Given the description of an element on the screen output the (x, y) to click on. 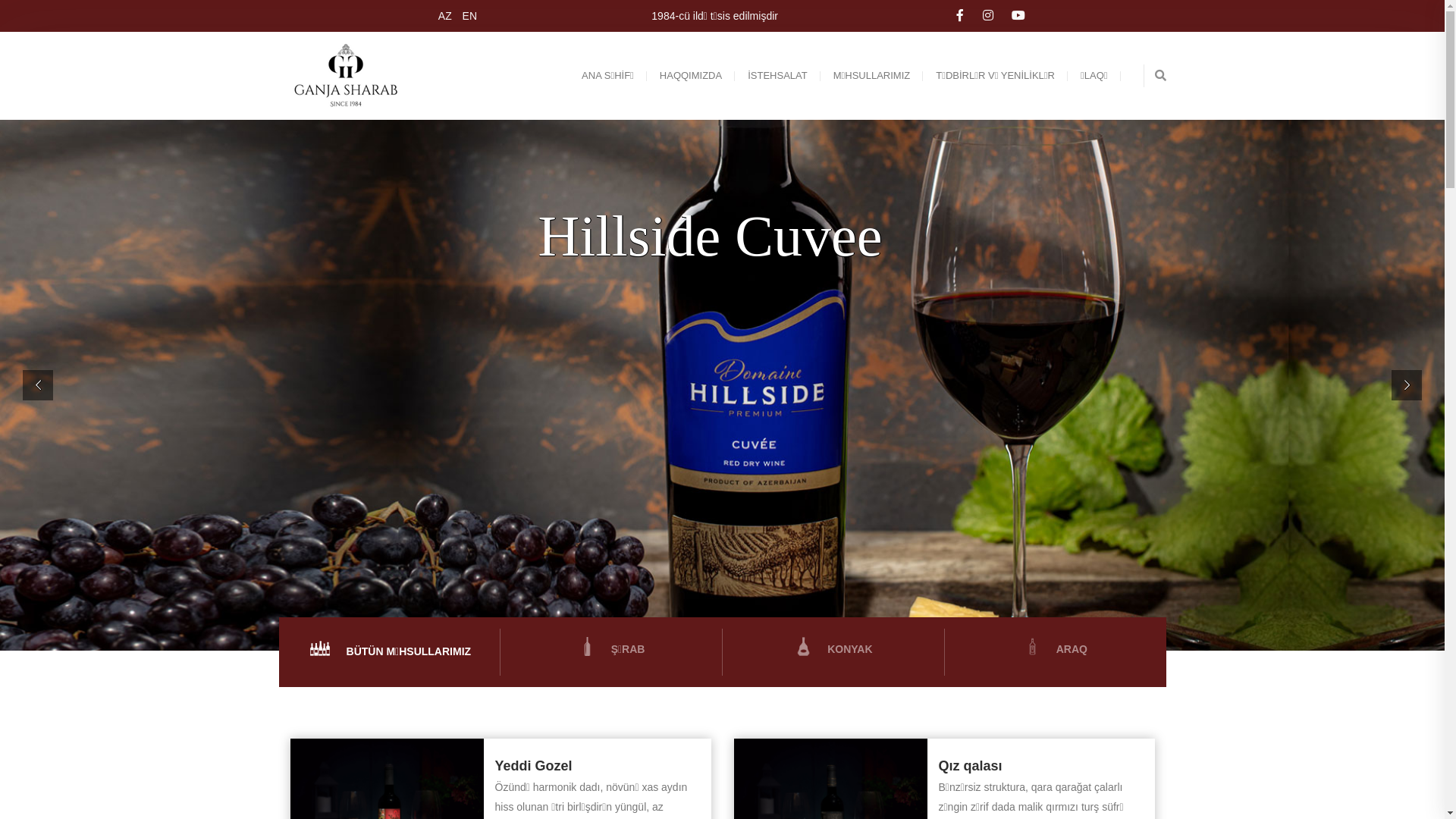
EN Element type: text (465, 15)
ARAQ Element type: text (1054, 649)
Ganja Sharab Element type: hover (348, 75)
HAQQIMIZDA Element type: text (690, 75)
KONYAK Element type: text (832, 649)
AZ Element type: text (442, 15)
